Given the description of an element on the screen output the (x, y) to click on. 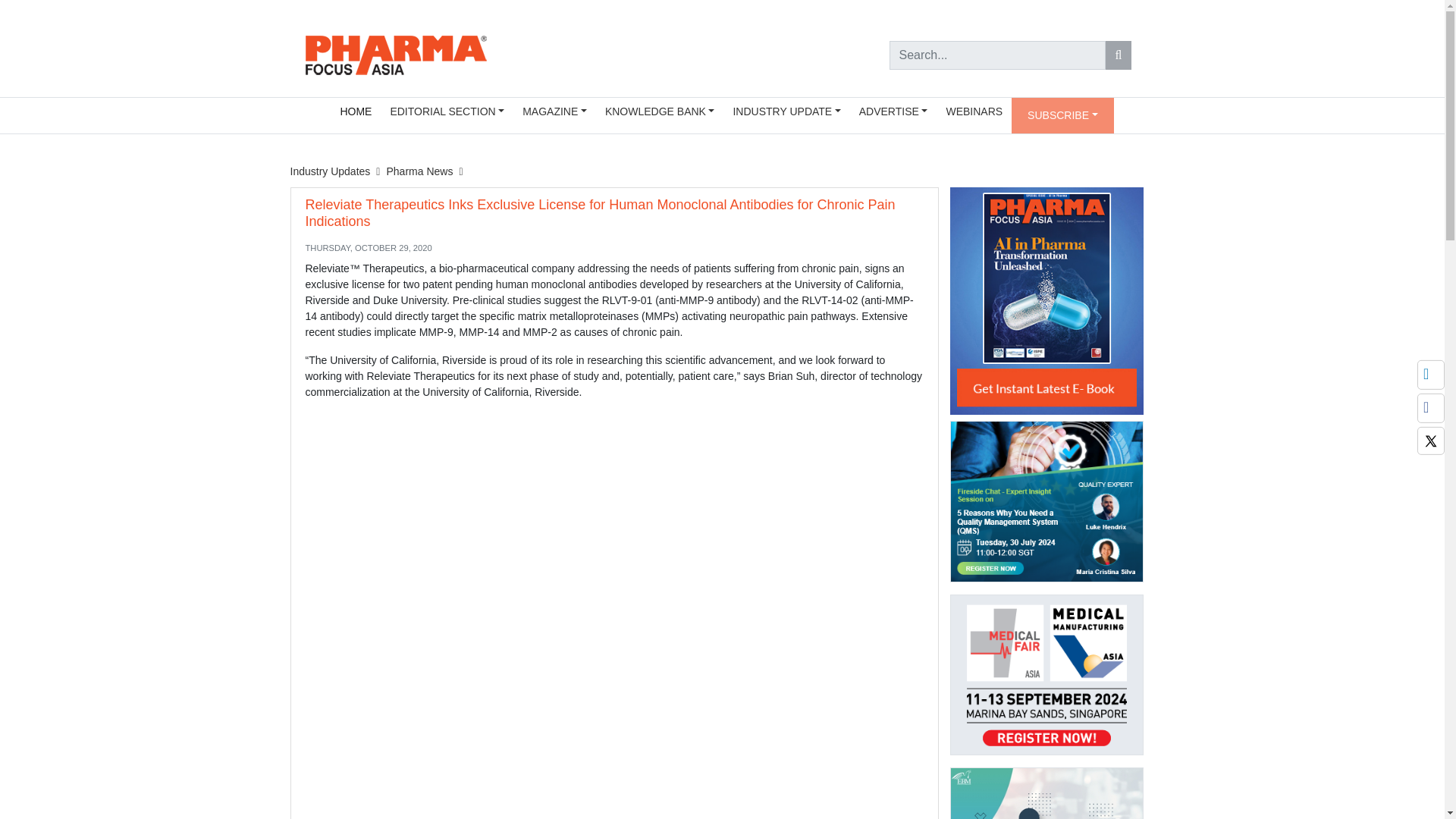
EDITORIAL SECTION (446, 111)
INDUSTRY UPDATE (785, 111)
MAGAZINE (554, 111)
KNOWLEDGE BANK (659, 111)
4th Annual Cleaning Validation 2024 (1045, 793)
Hexagon - Expert Insights Webinar (1045, 506)
Pharma Focus Asia (395, 53)
ADVERTISE (893, 111)
Hexagon - Expert Insights Webinar (1045, 501)
